Given the description of an element on the screen output the (x, y) to click on. 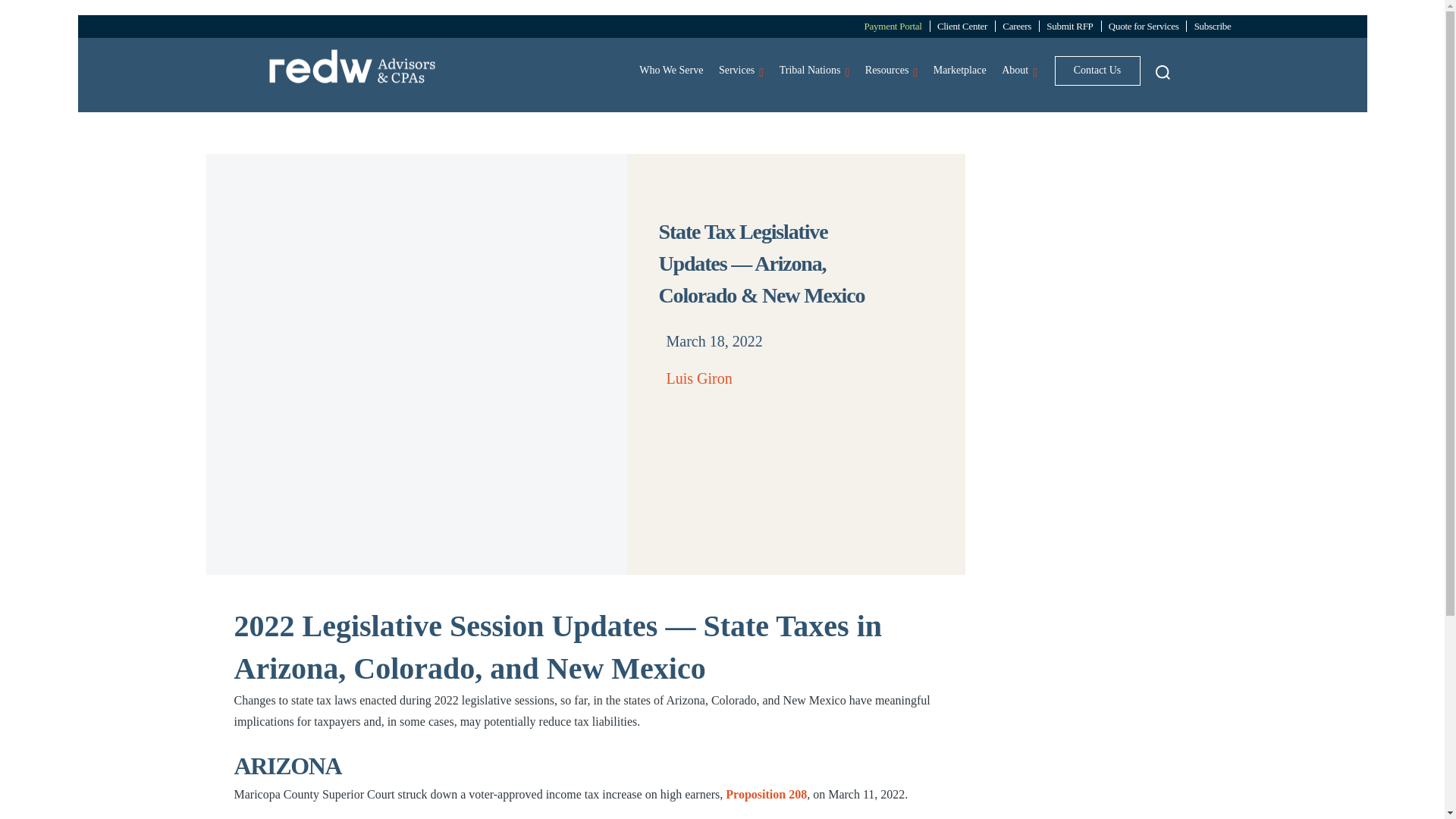
Who We Serve (671, 70)
Client Center (964, 25)
Tribal Nations (814, 70)
Payment Portal (895, 25)
Subscribe (1215, 25)
Submit RFP (1071, 25)
Posts by Luis Giron (698, 378)
Services (741, 70)
Quote for Services (1146, 25)
Careers (1018, 25)
